Given the description of an element on the screen output the (x, y) to click on. 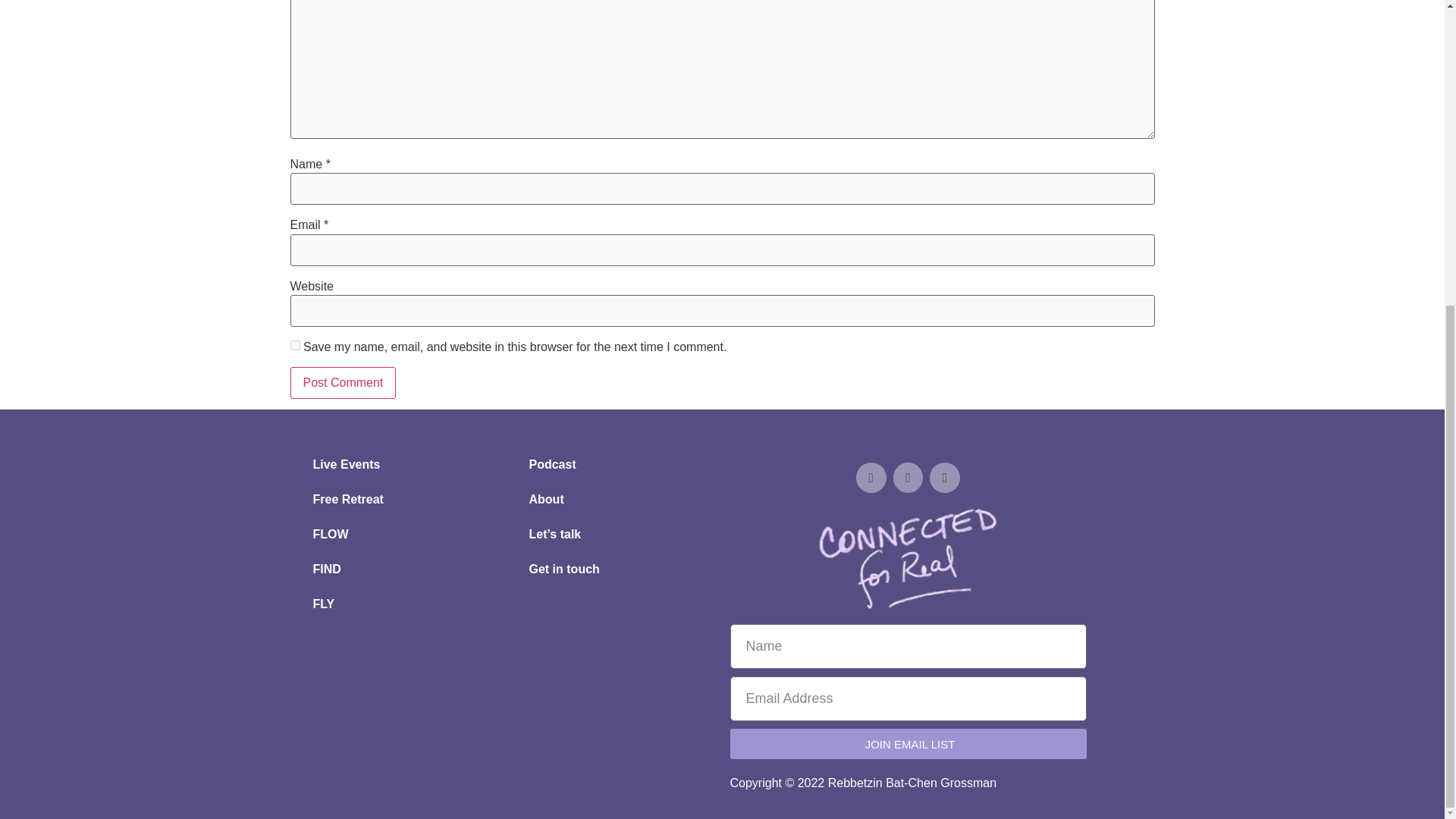
FLOW (397, 534)
FIND (397, 569)
Post Comment (342, 382)
yes (294, 345)
Free Retreat (397, 499)
Post Comment (342, 382)
FLY (397, 604)
Live Events (397, 464)
